Given the description of an element on the screen output the (x, y) to click on. 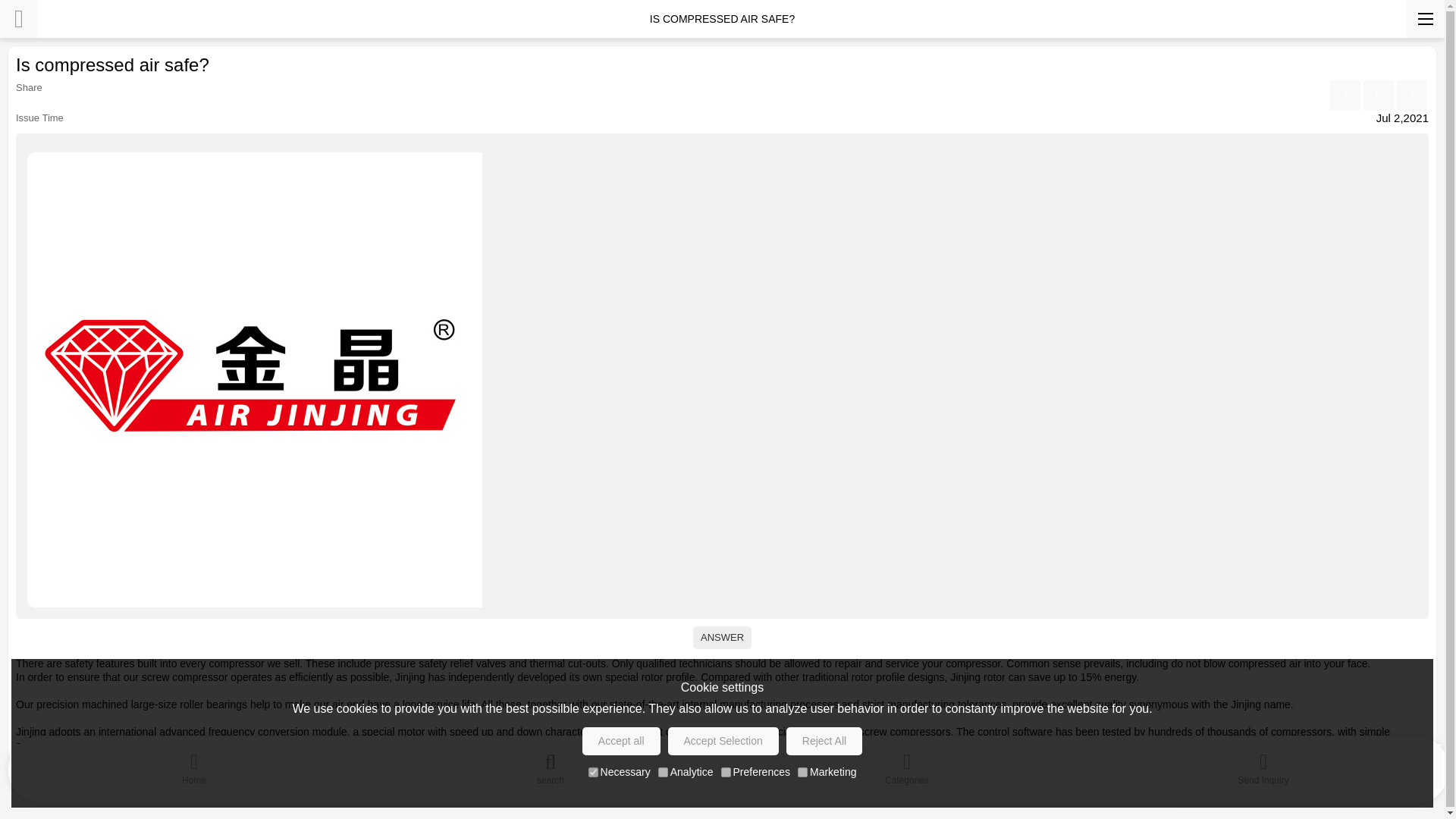
on (593, 772)
Share Twitter (1411, 95)
on (663, 772)
on (725, 772)
Accept Selection (723, 741)
Reject All (823, 741)
Share Facebook (1344, 95)
Accept all (621, 741)
Share Tinkedin (1377, 95)
Return (18, 18)
